Given the description of an element on the screen output the (x, y) to click on. 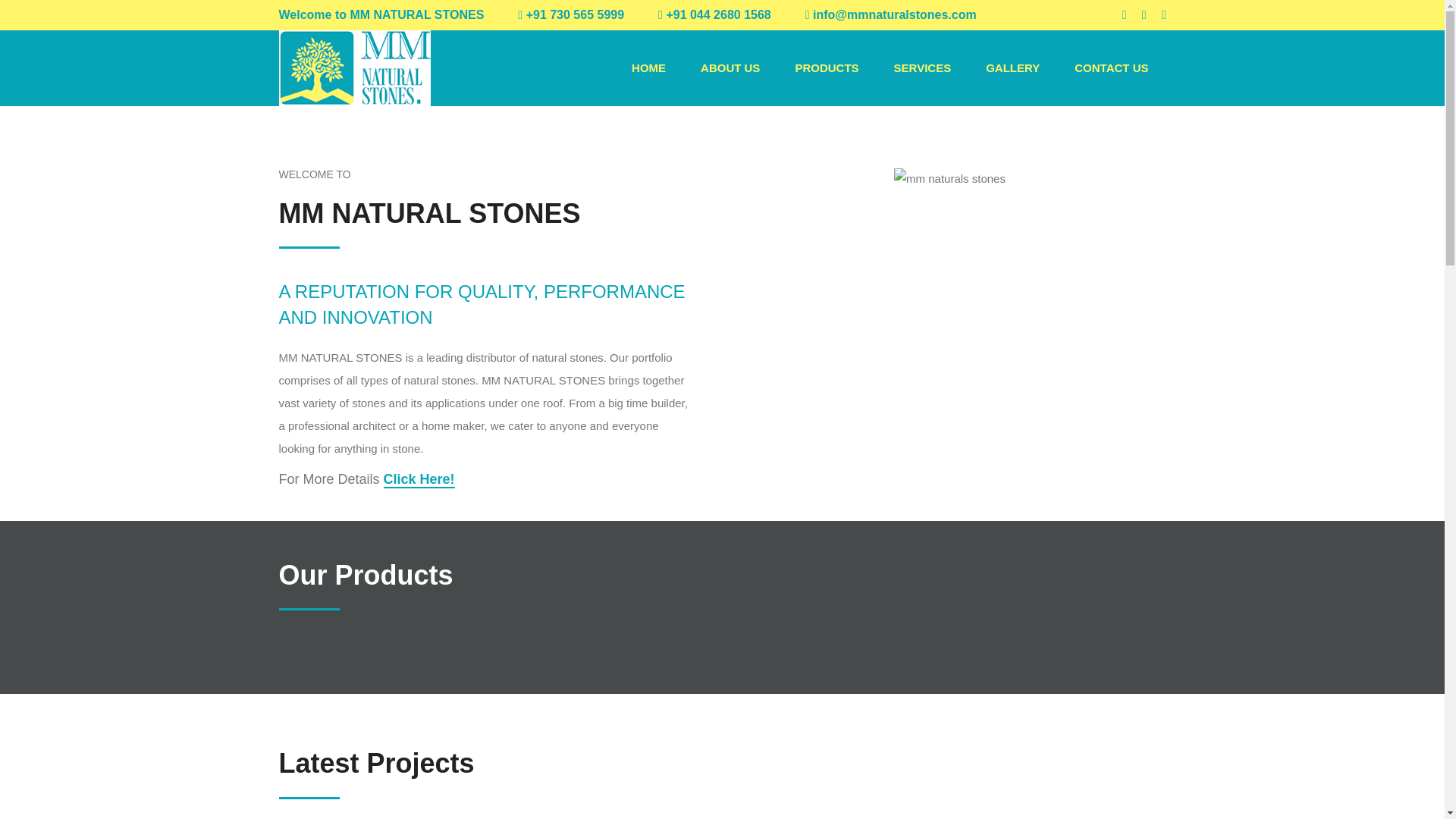
GALLERY (1012, 67)
CONTACT US (1111, 67)
PRODUCTS (826, 67)
ABOUT US (730, 67)
HOME (648, 67)
SERVICES (922, 67)
